Given the description of an element on the screen output the (x, y) to click on. 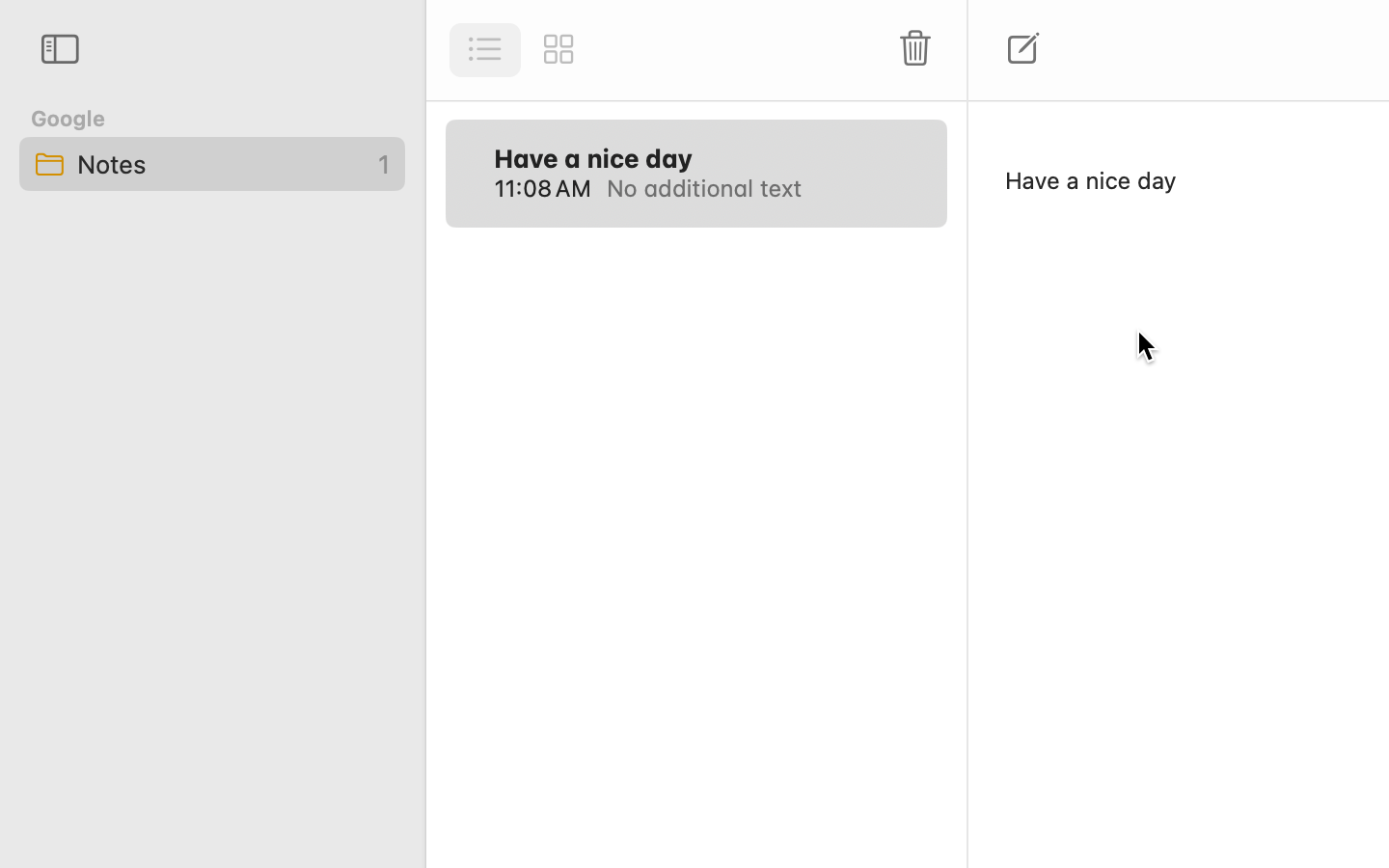
<AXUIElement 0x155779cd0> {pid=1298} Element type: AXRadioGroup (521, 49)
Have a nice day Element type: AXStaticText (593, 157)
